Given the description of an element on the screen output the (x, y) to click on. 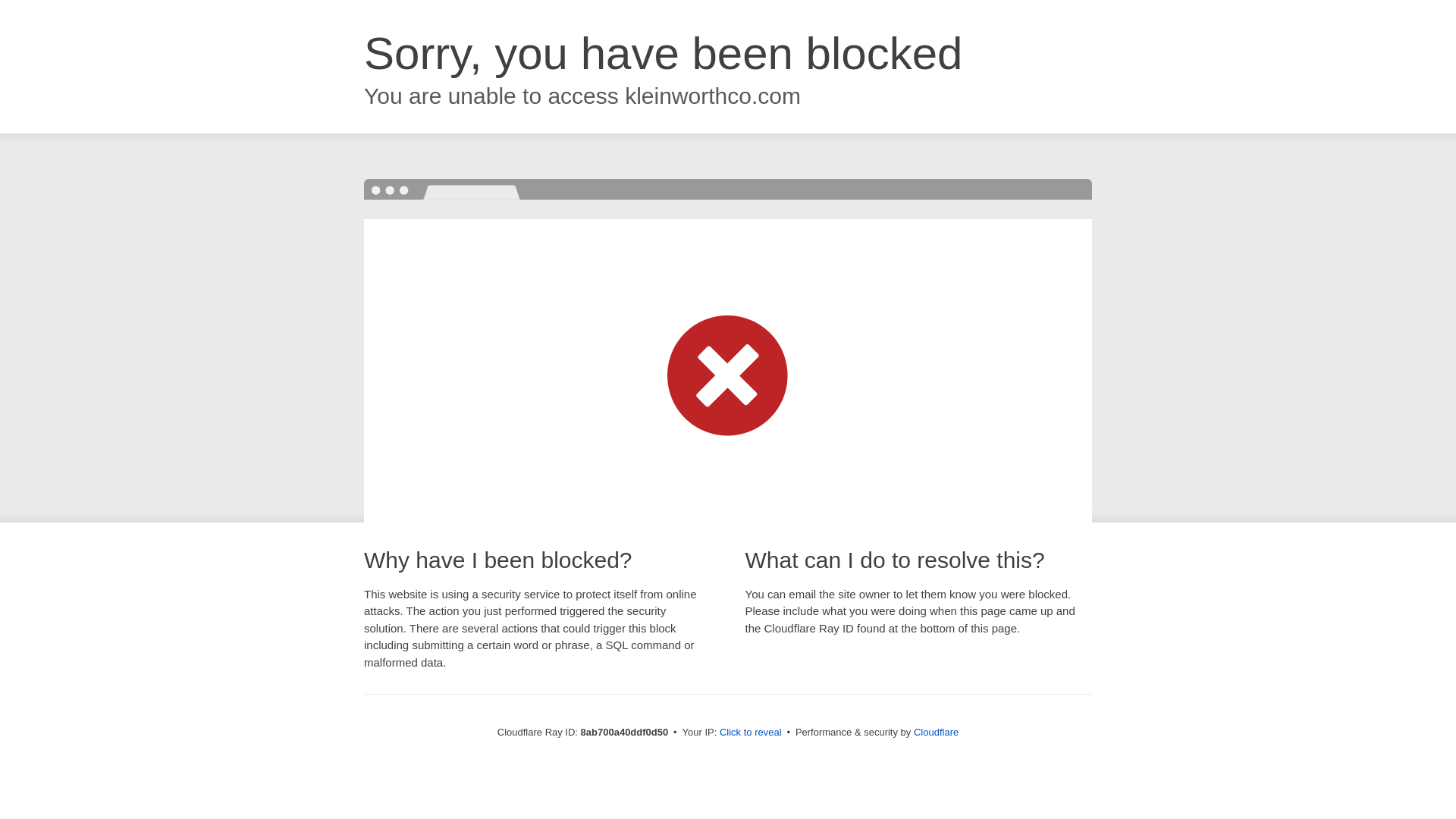
Cloudflare (936, 731)
Click to reveal (750, 732)
